Given the description of an element on the screen output the (x, y) to click on. 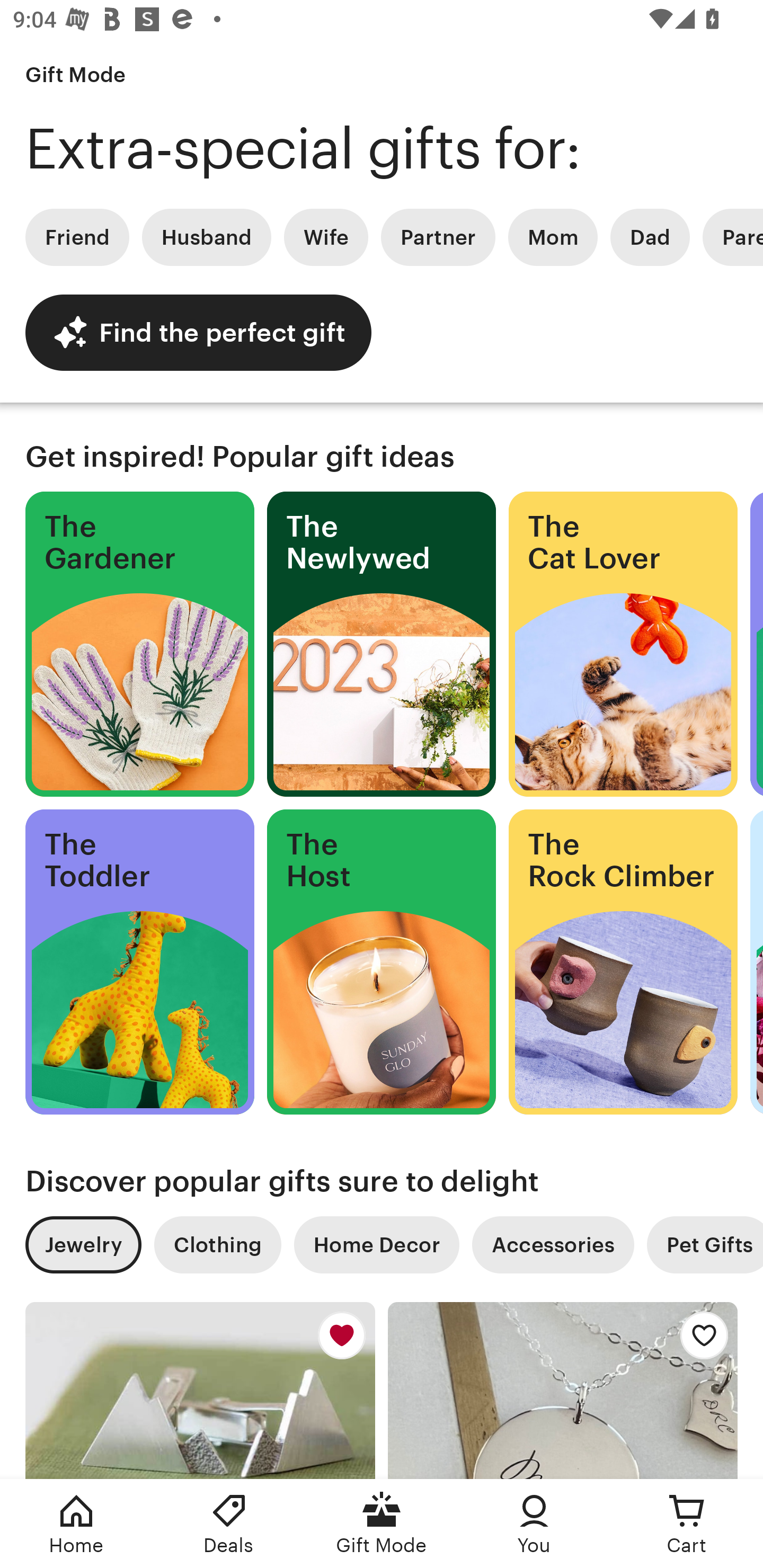
Friend (76, 237)
Husband (206, 237)
Wife (325, 237)
Partner (437, 237)
Mom (552, 237)
Dad (649, 237)
Find the perfect gift (198, 332)
The Gardener (139, 644)
The Newlywed (381, 644)
The Cat Lover (622, 644)
The Toddler (139, 961)
The Host (381, 961)
The Rock Climber (622, 961)
Jewelry (83, 1244)
Clothing (217, 1244)
Home Decor (376, 1244)
Accessories (553, 1244)
Pet Gifts (705, 1244)
Home (76, 1523)
Deals (228, 1523)
You (533, 1523)
Cart (686, 1523)
